Given the description of an element on the screen output the (x, y) to click on. 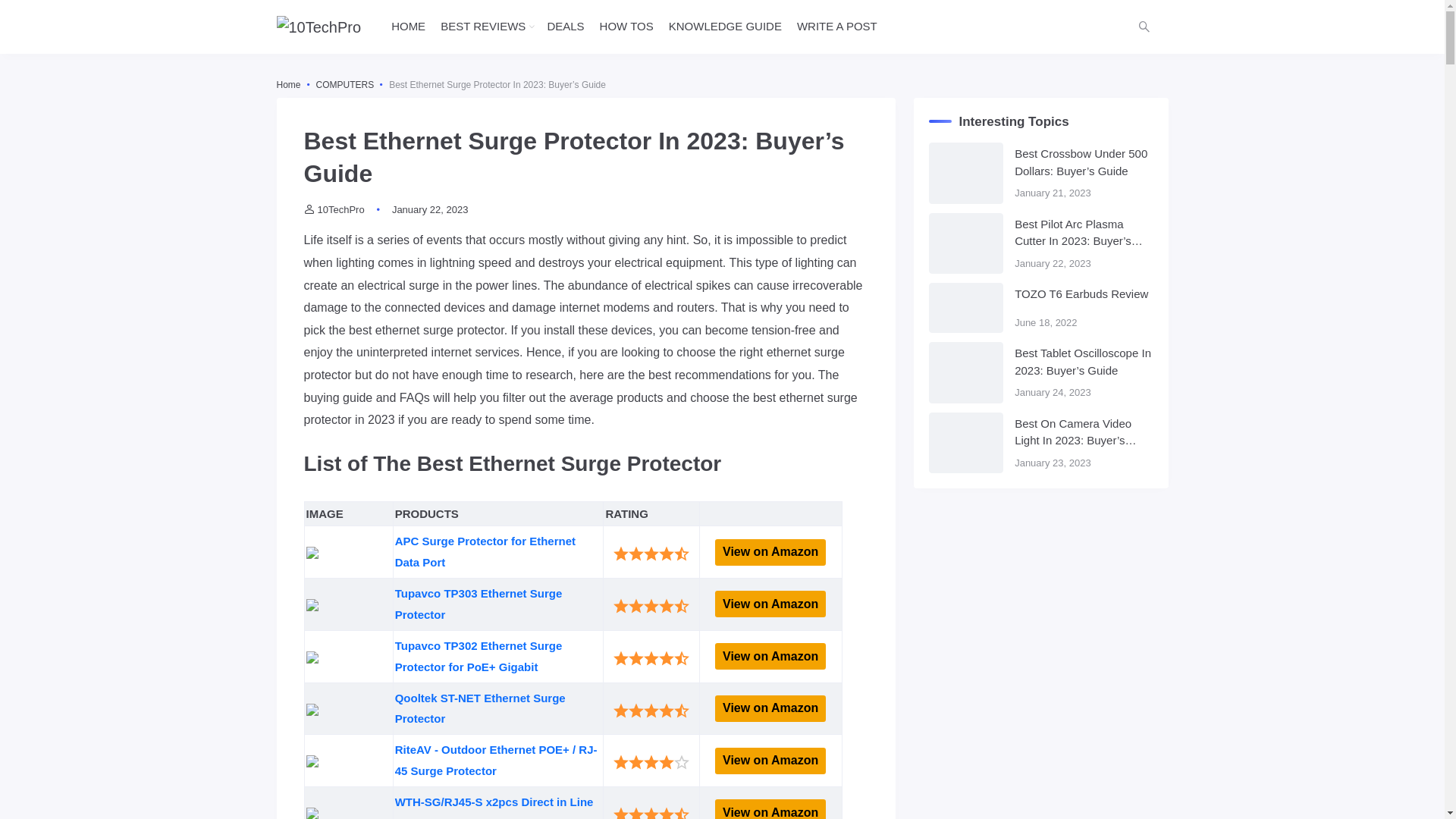
View on Amazon Element type: text (770, 760)
Tupavco TP302 Ethernet Surge Protector for PoE+ Gigabit Element type: text (480, 656)
WRITE A POST Element type: text (837, 26)
BEST REVIEWS Element type: text (482, 26)
Qooltek ST-NET Ethernet Surge Protector Element type: text (481, 708)
APC Surge Protector for Ethernet Data Port Element type: text (487, 551)
KNOWLEDGE GUIDE Element type: text (724, 26)
RiteAV - Outdoor Ethernet POE+ / RJ-45 Surge Protector Element type: text (496, 760)
HOME Element type: text (408, 26)
View on Amazon Element type: text (770, 656)
Tupavco TP303 Ethernet Surge Protector Element type: text (480, 603)
View on Amazon Element type: text (770, 708)
TOZO T6 Earbuds Review Element type: text (1083, 294)
10TechPro Element type: text (333, 209)
HOW TOS Element type: text (626, 26)
COMPUTERS Element type: text (345, 83)
View on Amazon Element type: text (770, 603)
DEALS Element type: text (564, 26)
View on Amazon Element type: text (770, 552)
Home Element type: text (288, 83)
